Given the description of an element on the screen output the (x, y) to click on. 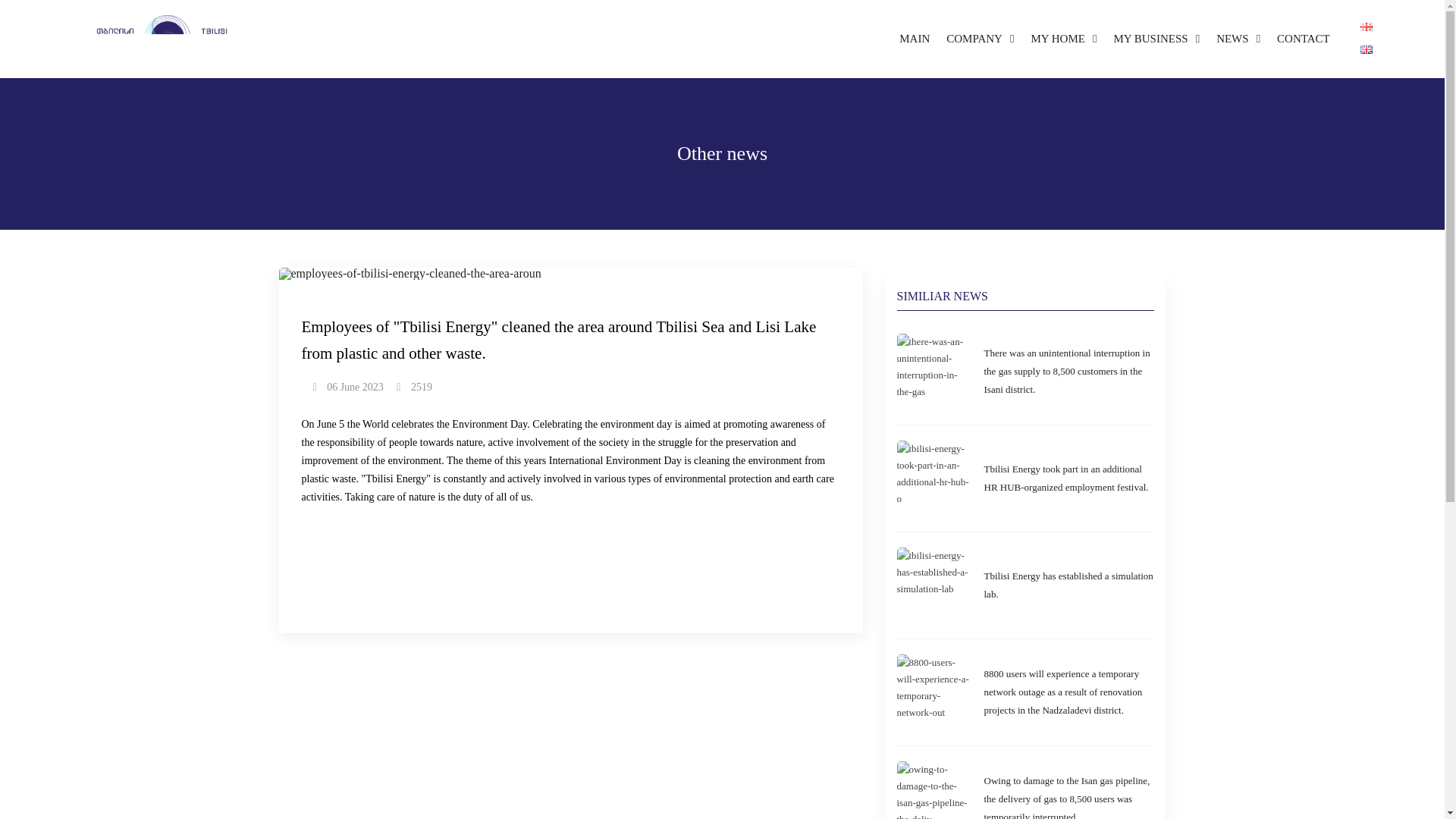
MAIN (914, 39)
CONTACT (1303, 39)
Tbilisi Energy (166, 56)
MY BUSINESS (1156, 39)
owing-to-damage-to-the-isan-gas-pipeline-the-deliv (1069, 790)
MY HOME (1063, 39)
tbilisi-energy-has-established-a-simulation-lab (1069, 585)
8800-users-will-experience-a-temporary-network-out (1069, 692)
there-was-an-unintentional-interruption-in-the-gas (1069, 371)
NEWS (1238, 39)
tbilisi-energy-took-part-in-an-additional-hr-hub-o (1069, 478)
Tbilisi Energy has established a simulation lab. (1069, 585)
